Given the description of an element on the screen output the (x, y) to click on. 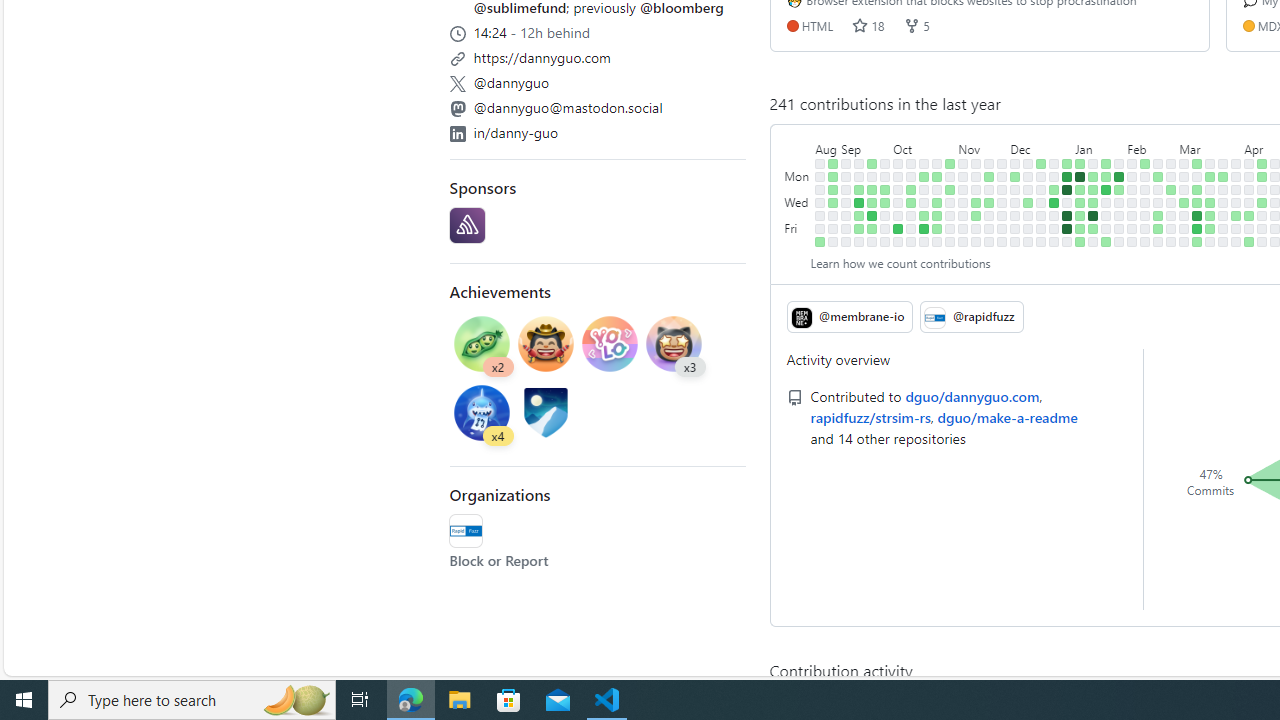
forks 5 (916, 25)
No contributions on February 26th. (1171, 176)
No contributions on April 3rd. (1236, 202)
2 contributions on September 15th. (859, 228)
Mastodon (457, 108)
No contributions on February 14th. (1145, 202)
No contributions on February 21st. (1158, 202)
1 contribution on December 4th. (1015, 176)
4 contributions on September 13th. (859, 202)
1 contribution on February 19th. (1158, 176)
No contributions on September 5th. (846, 189)
No contributions on October 12th. (911, 215)
Saturday (797, 241)
1 contribution on September 27th. (885, 202)
No contributions on March 23rd. (1210, 241)
